Given the description of an element on the screen output the (x, y) to click on. 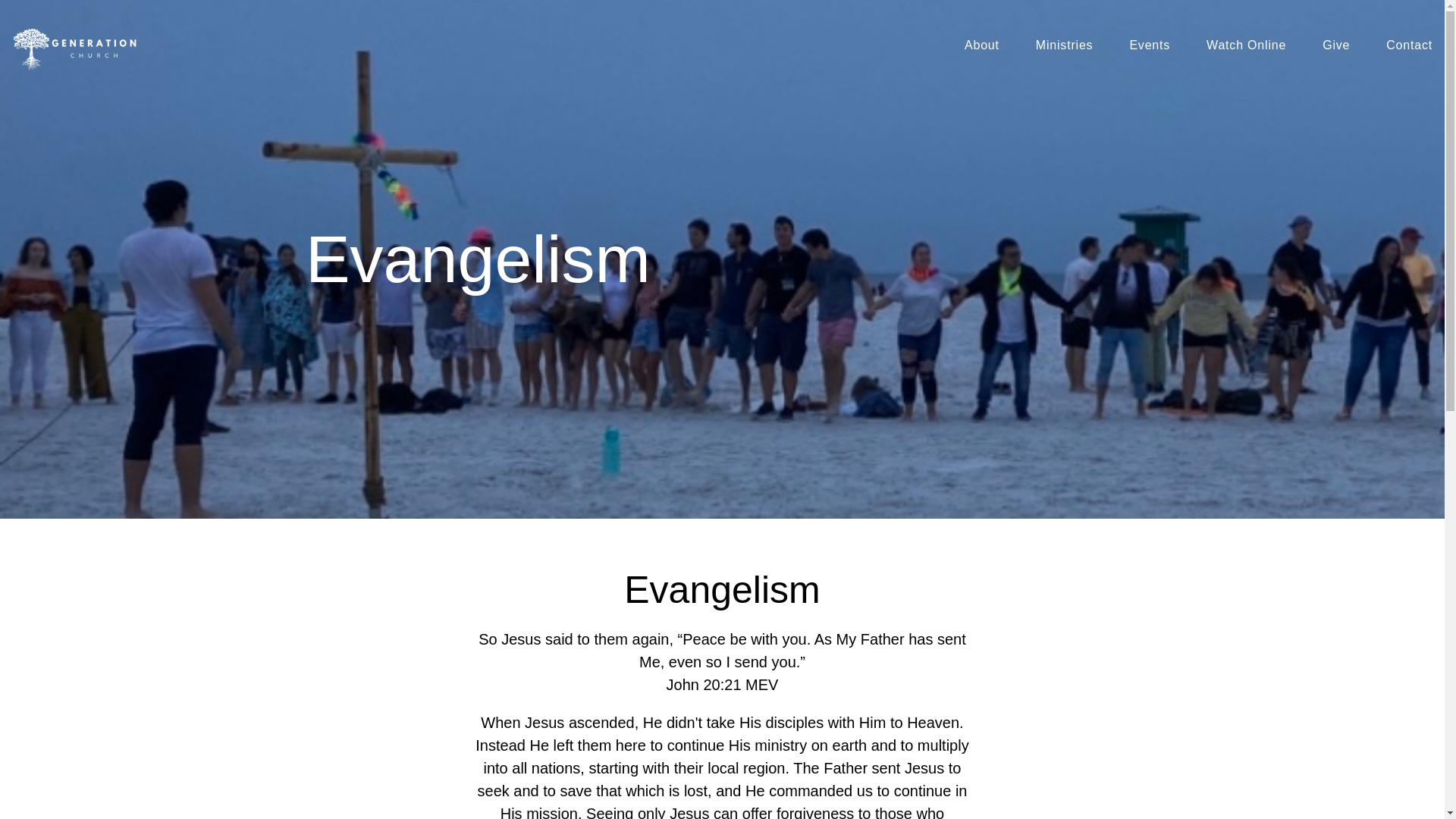
Watch Online (1246, 48)
Ministries (1064, 48)
Events (1149, 48)
Give (1335, 48)
About (980, 48)
Contact (1409, 48)
